Given the description of an element on the screen output the (x, y) to click on. 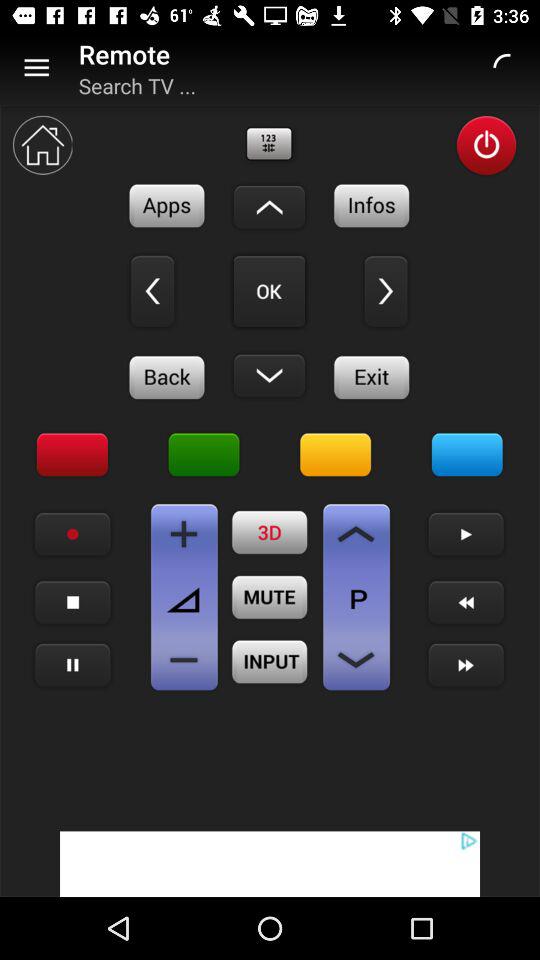
play my selection (269, 291)
